Given the description of an element on the screen output the (x, y) to click on. 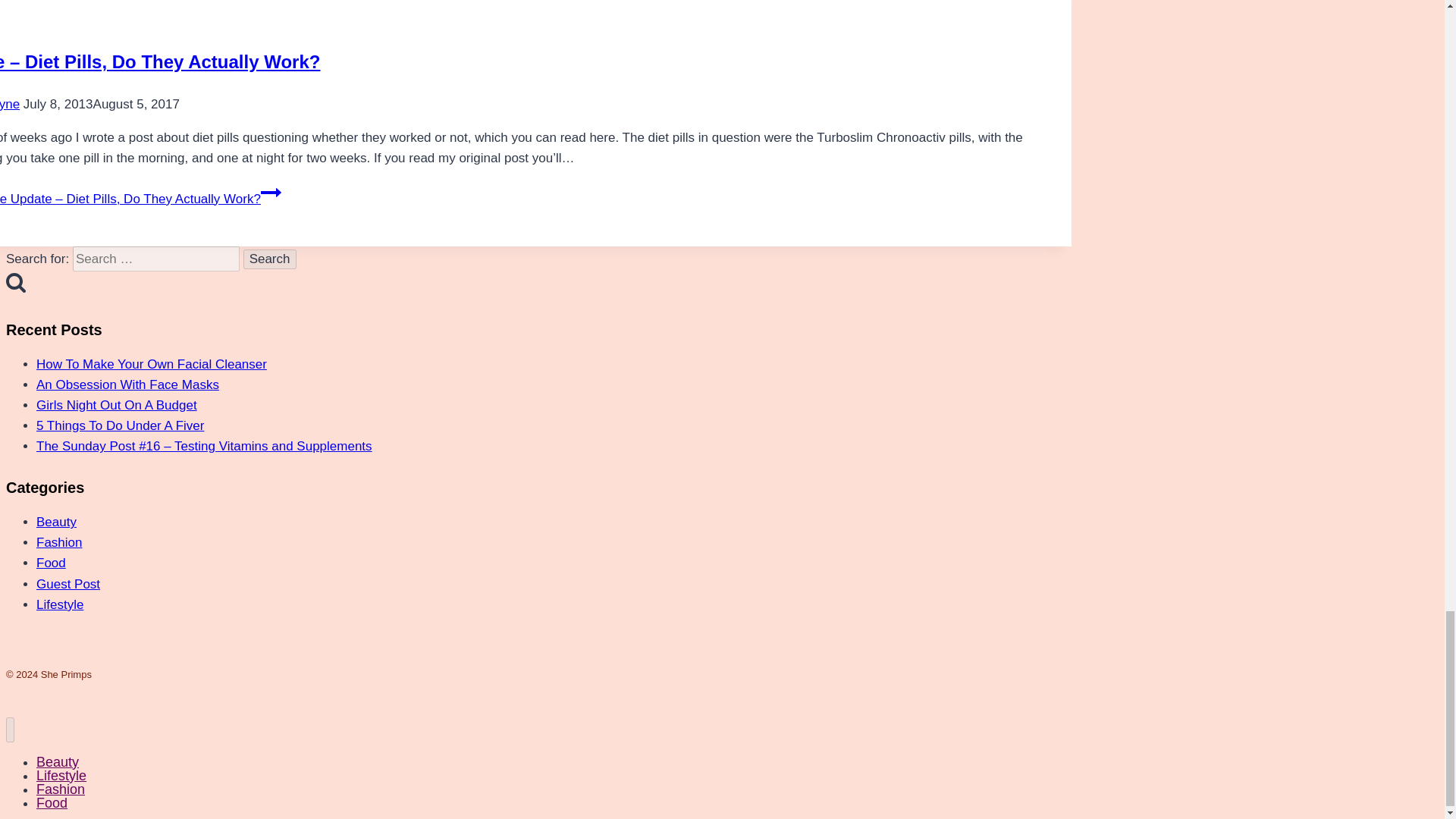
An Obsession With Face Masks (127, 384)
Search (270, 259)
Search (270, 259)
How To Make Your Own Facial Cleanser (151, 364)
Lisa Jayne (10, 104)
Search (270, 259)
